Given the description of an element on the screen output the (x, y) to click on. 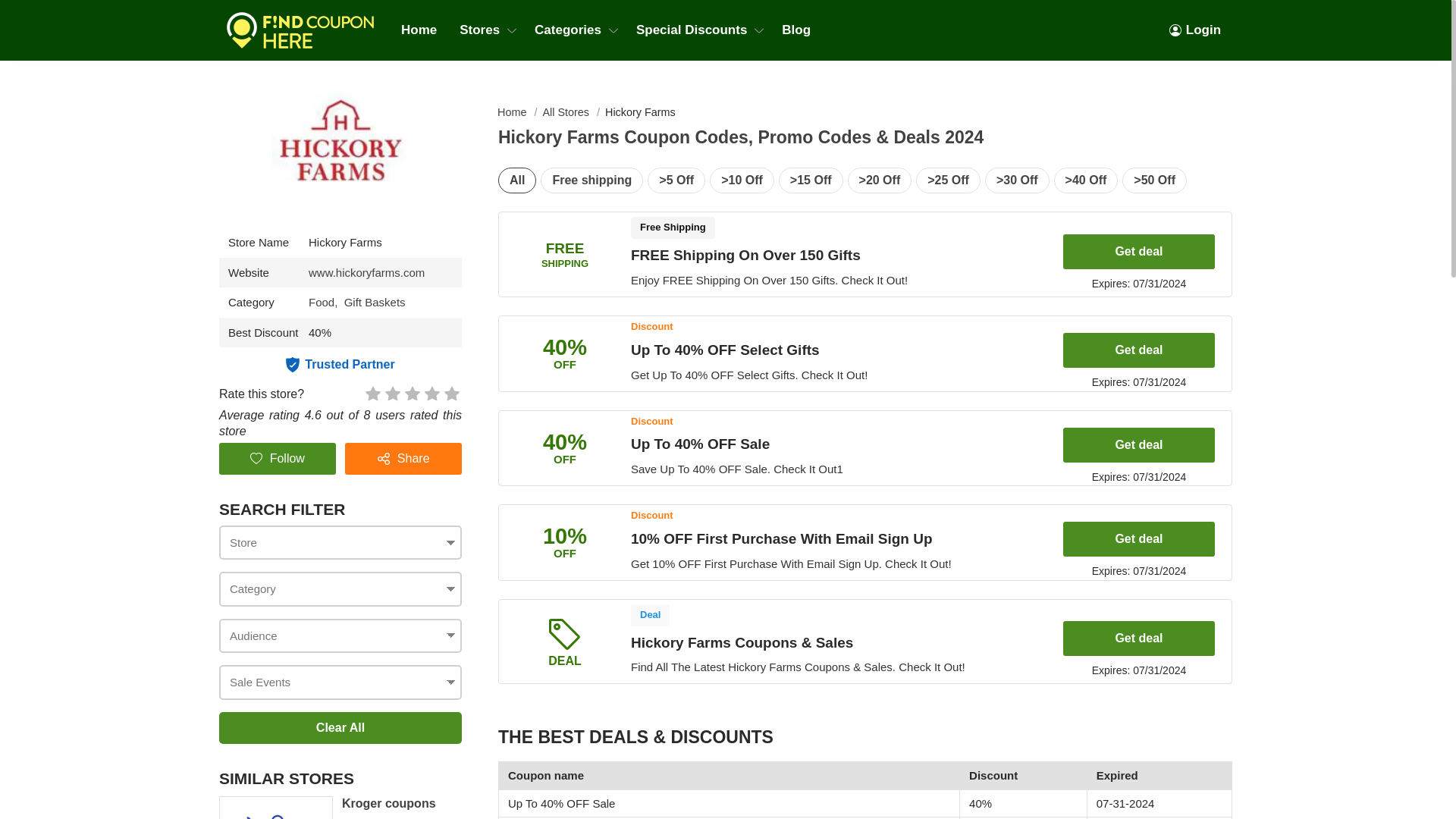
Hickory Farms (366, 272)
Home (419, 29)
Food (325, 301)
Stores (485, 29)
Gift Baskets (374, 301)
Categories (573, 29)
